Given the description of an element on the screen output the (x, y) to click on. 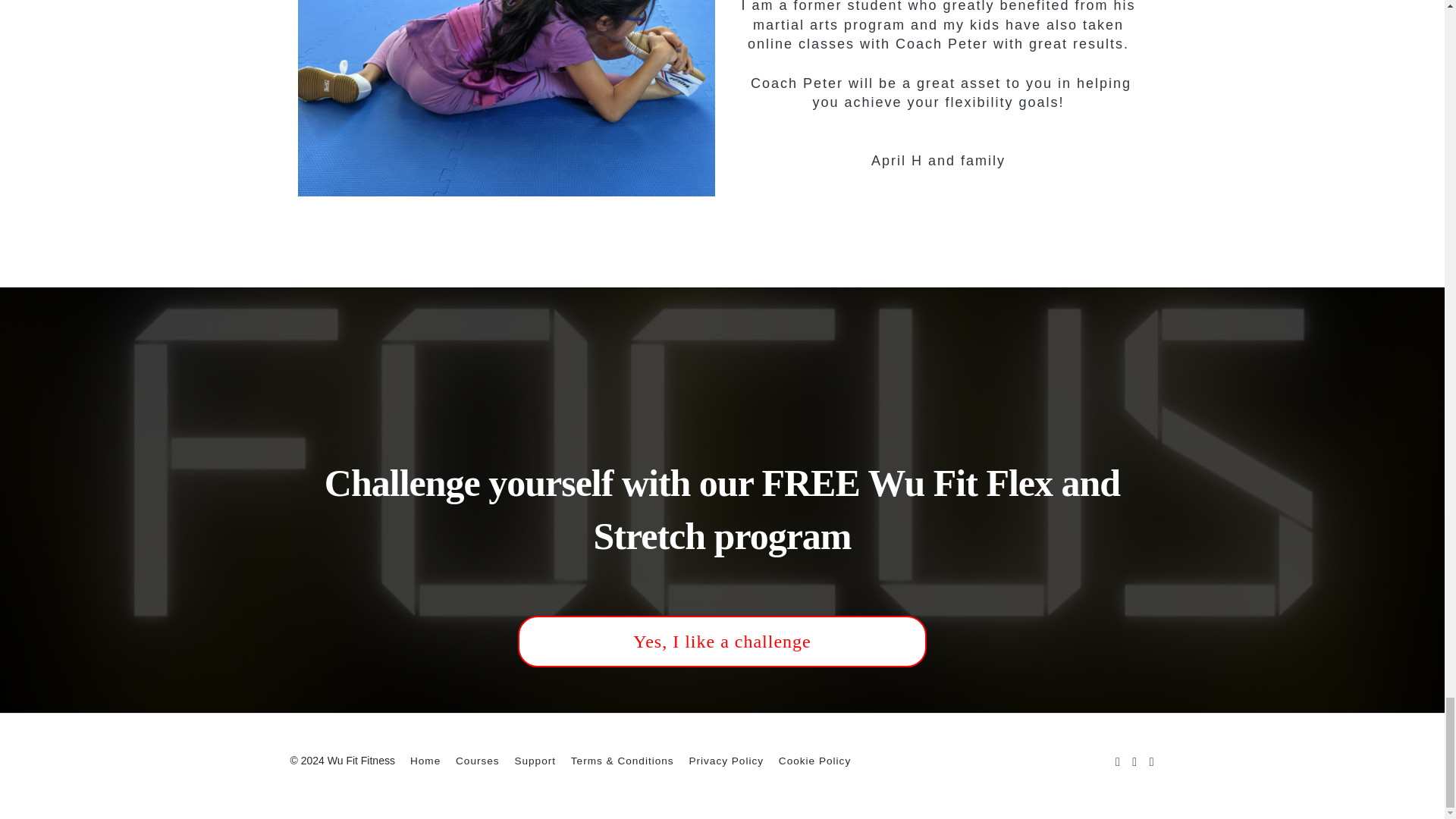
Support (534, 760)
Courses (477, 760)
Cookie Policy (814, 760)
Home (425, 760)
Privacy Policy (725, 760)
Yes, I like a challenge (722, 641)
